Given the description of an element on the screen output the (x, y) to click on. 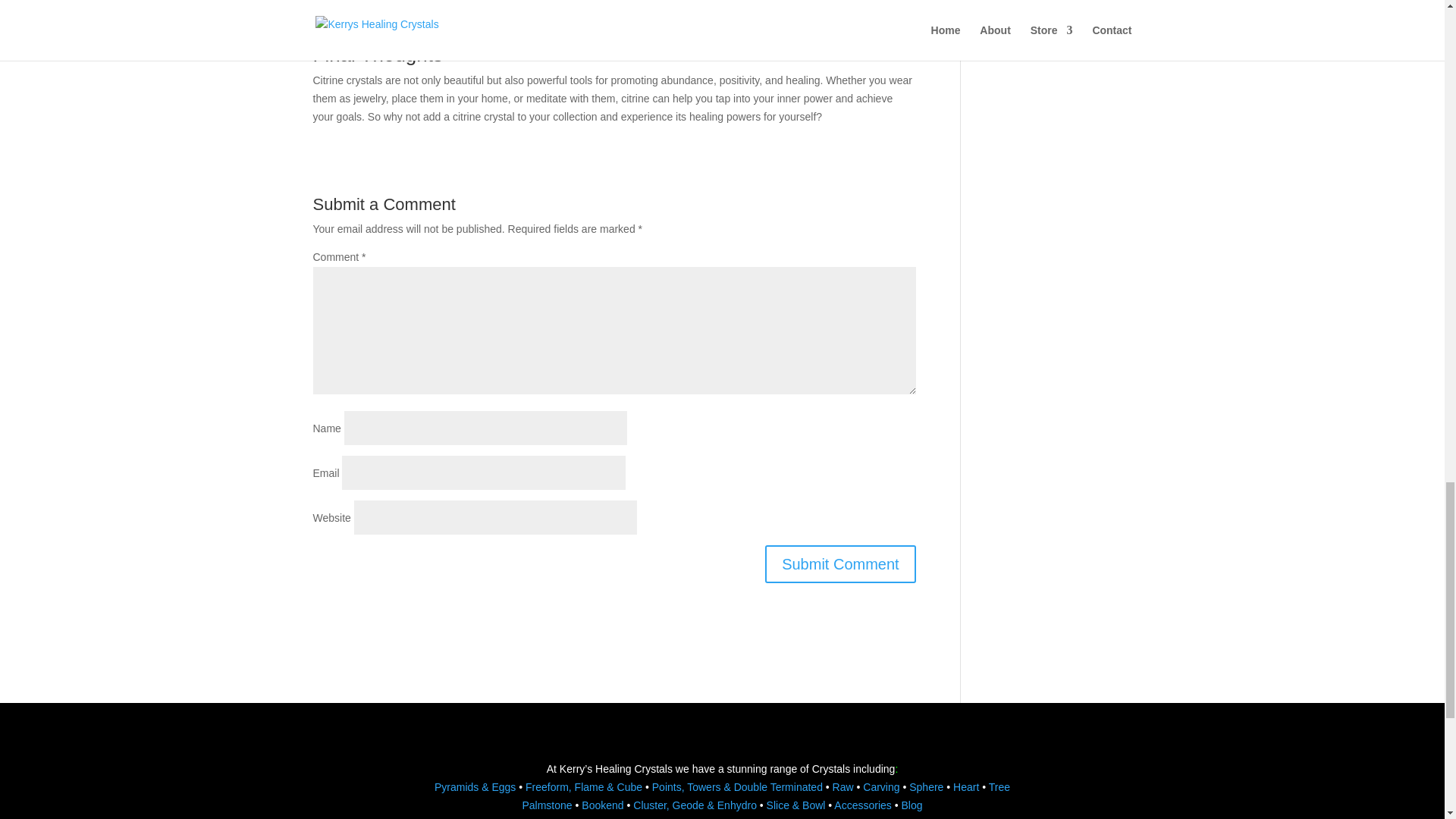
Bookend (601, 805)
Tree (999, 787)
Submit Comment (840, 564)
Heart (965, 787)
Submit Comment (840, 564)
Sphere (925, 787)
Pyramids (457, 787)
Raw (842, 787)
Palmstone (546, 805)
Carving (881, 787)
